Given the description of an element on the screen output the (x, y) to click on. 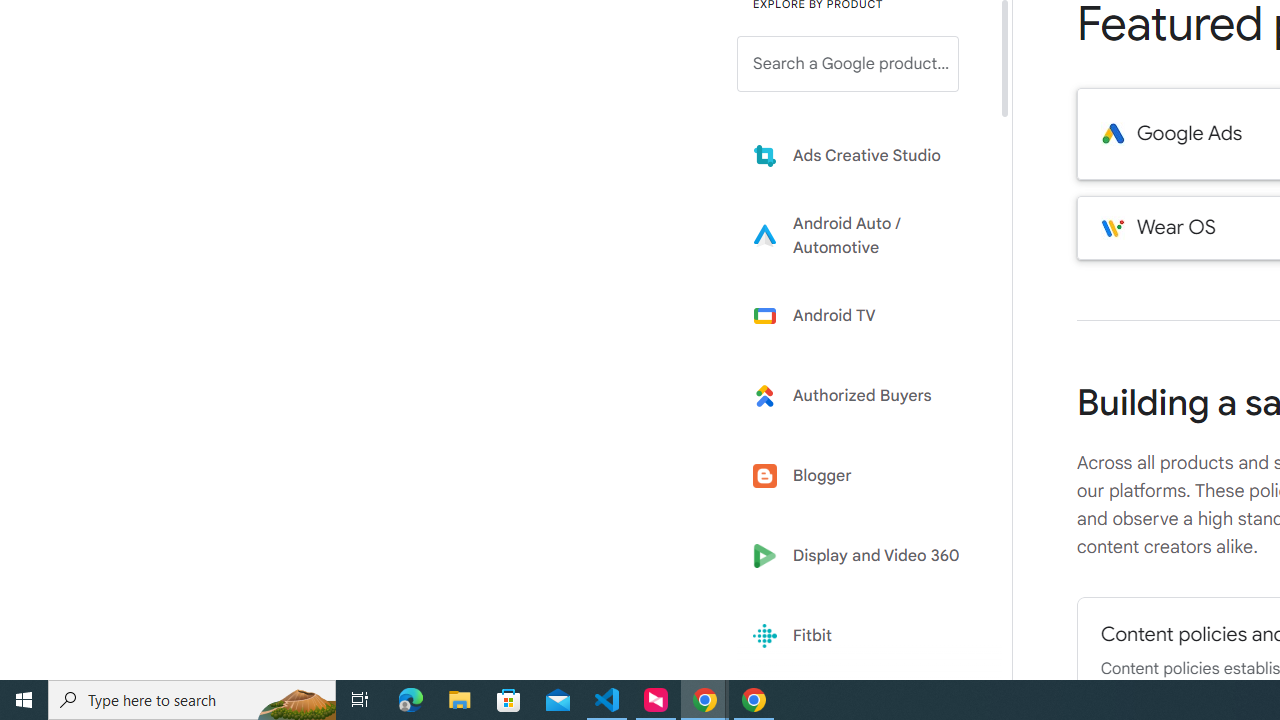
Blogger (862, 476)
Search a Google product from below list. (847, 64)
Fitbit (862, 636)
Learn more about Android TV (862, 315)
Learn more about Android Auto (862, 235)
Fitbit (862, 636)
Learn more about Ads Creative Studio (862, 155)
Learn more about Android TV (862, 315)
Learn more about Ads Creative Studio (862, 155)
Display and Video 360 (862, 556)
Learn more about Authorized Buyers (862, 395)
Learn more about Android Auto (862, 235)
Display and Video 360 (862, 556)
Blogger (862, 476)
Learn more about Authorized Buyers (862, 395)
